Given the description of an element on the screen output the (x, y) to click on. 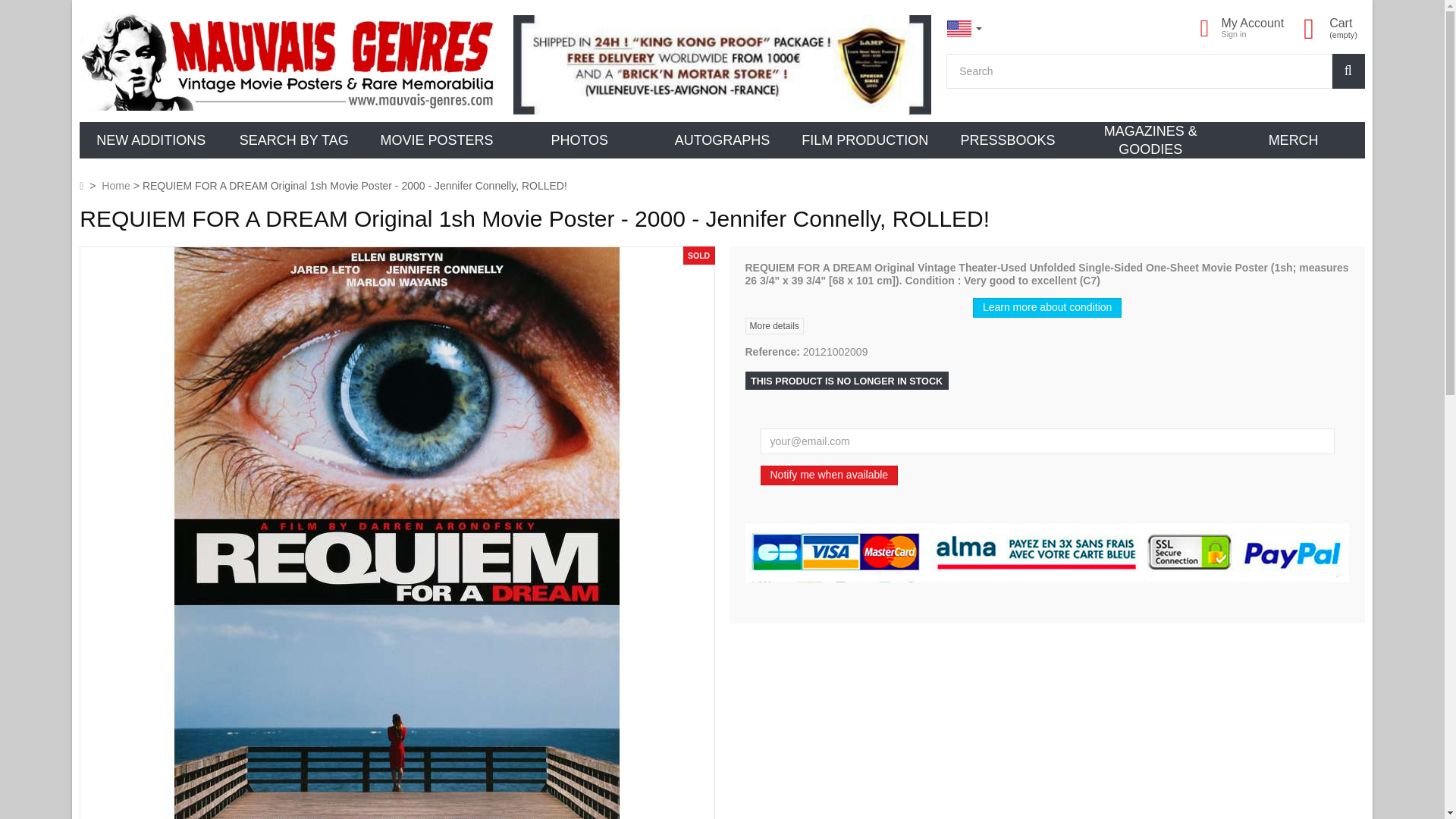
View my customer account (1252, 22)
More details (773, 325)
New additions (151, 140)
Home (115, 185)
Notify me when available (829, 475)
MERCH (1292, 140)
Sign in (1233, 33)
My Account (1252, 22)
Learn more about condition (1046, 307)
mauvais-genres.com (288, 60)
